Given the description of an element on the screen output the (x, y) to click on. 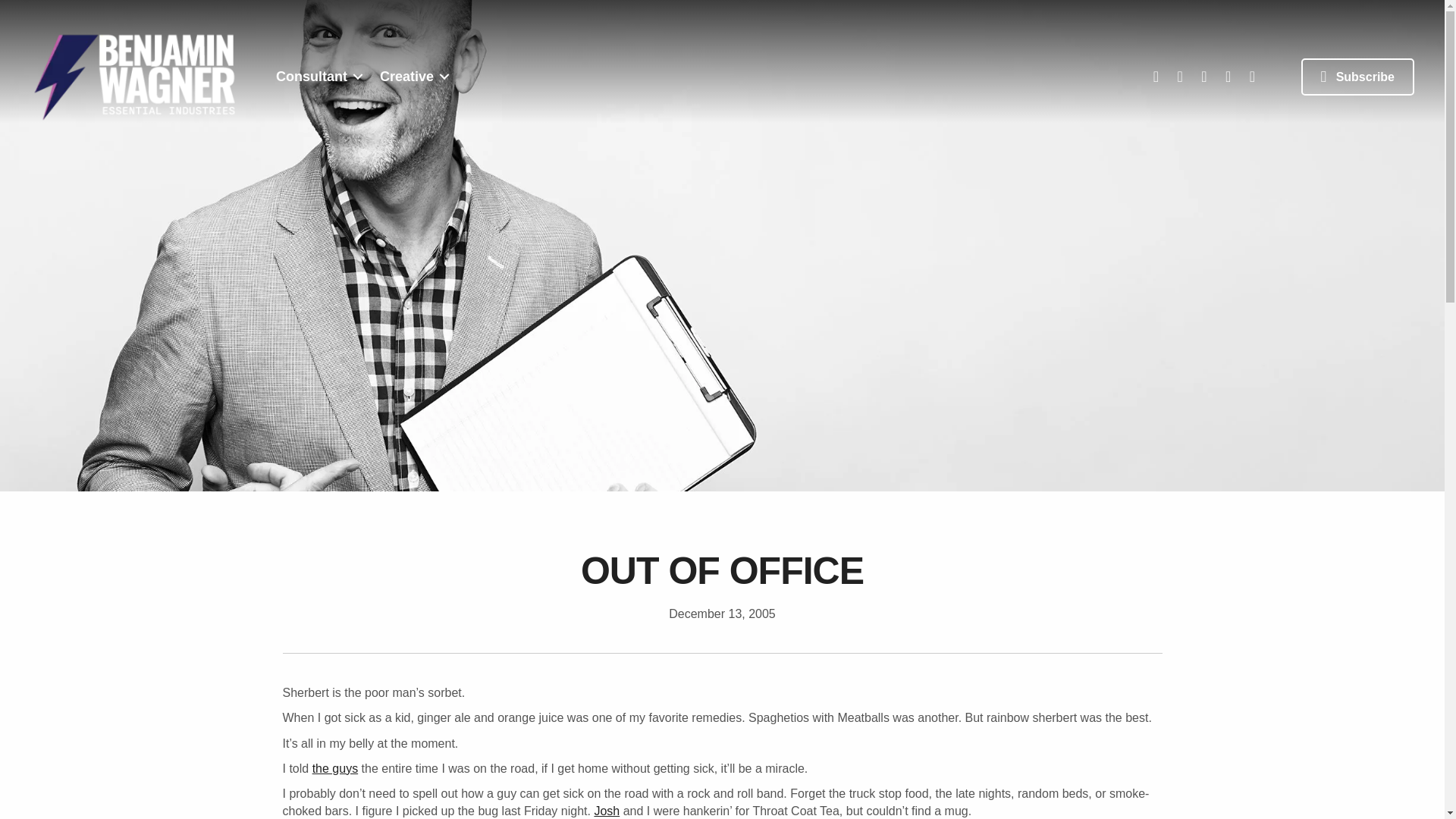
Subscribe (1357, 76)
Consultant (316, 76)
Creative (411, 76)
Essential-Industries-Logo-Web (134, 76)
the guys (335, 768)
Josh (607, 810)
